Given the description of an element on the screen output the (x, y) to click on. 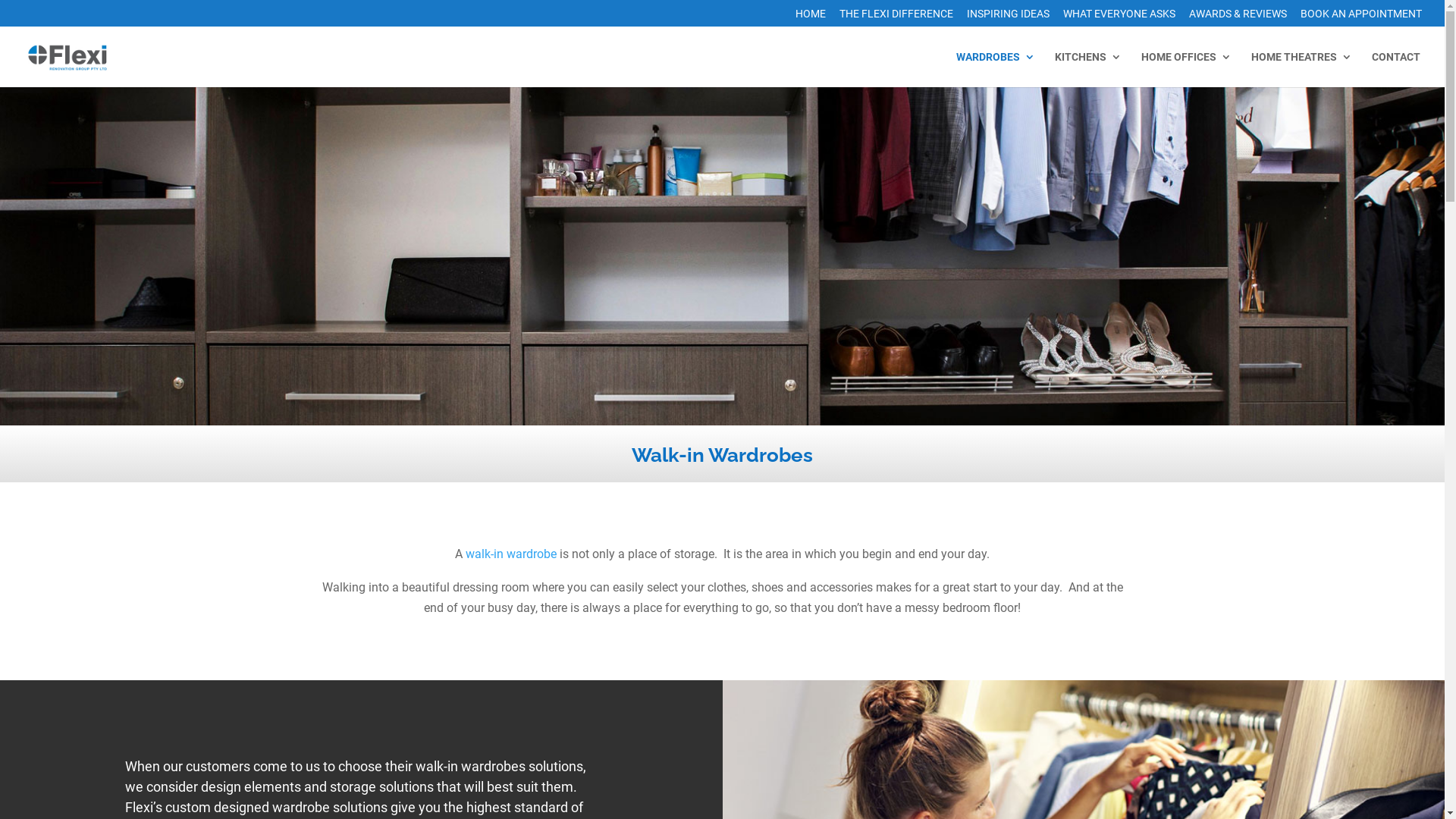
WARDROBES Element type: text (995, 69)
AWARDS & REVIEWS Element type: text (1237, 16)
HOME THEATRES Element type: text (1301, 69)
THE FLEXI DIFFERENCE Element type: text (896, 16)
walk-in wardrobe Element type: text (510, 553)
KITCHENS Element type: text (1087, 69)
WHAT EVERYONE ASKS Element type: text (1119, 16)
HOME OFFICES Element type: text (1186, 69)
CONTACT Element type: text (1395, 69)
INSPIRING IDEAS Element type: text (1007, 16)
HOME Element type: text (810, 16)
BOOK AN APPOINTMENT Element type: text (1360, 16)
